Given the description of an element on the screen output the (x, y) to click on. 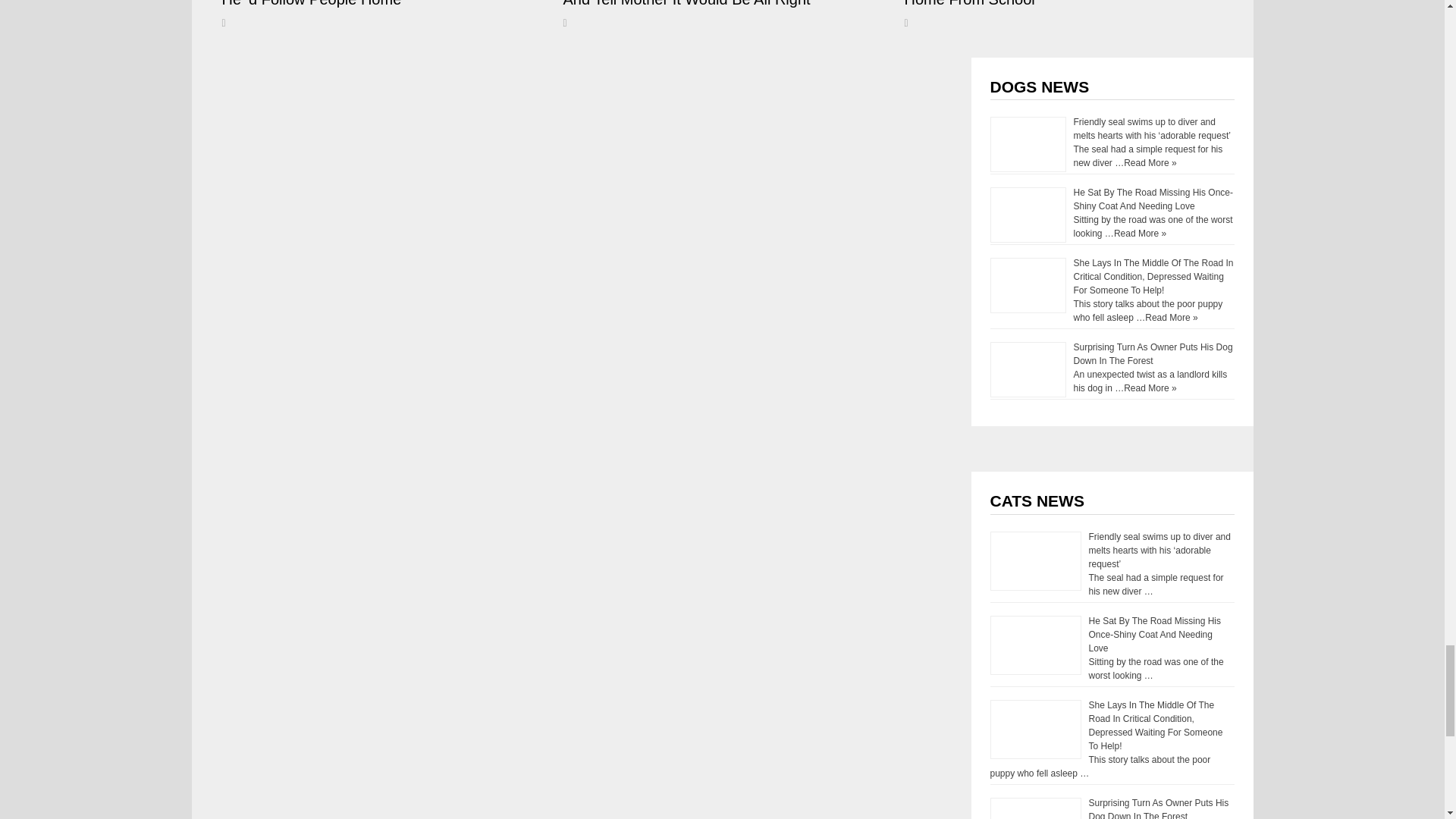
Angel Found Saving A Stray Dog On Her Way Home From School (1057, 3)
Angel Found Saving A Stray Dog On Her Way Home From School (1057, 3)
